Given the description of an element on the screen output the (x, y) to click on. 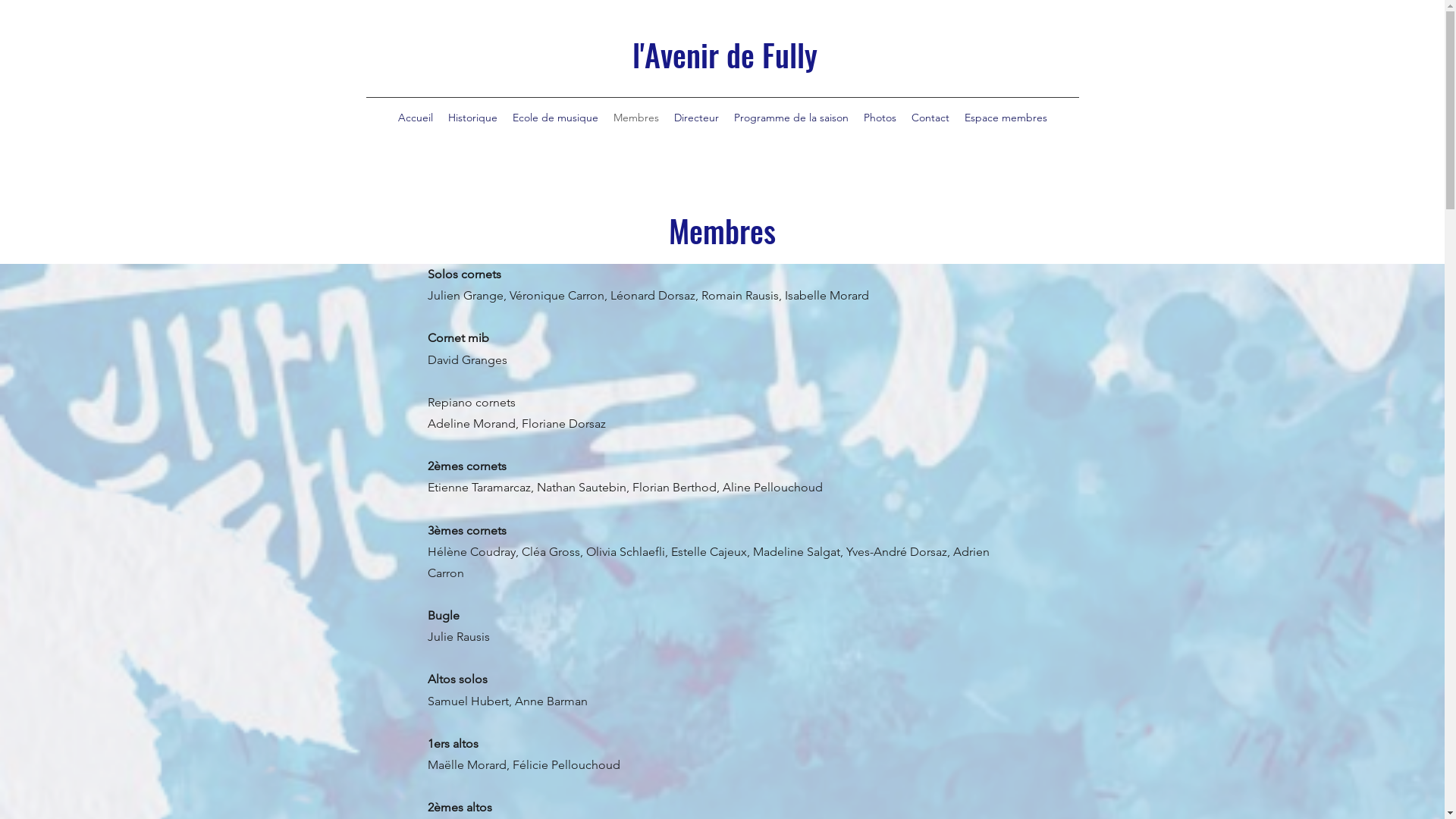
Accueil Element type: text (414, 117)
Membres Element type: text (635, 117)
Programme de la saison Element type: text (791, 117)
Photos Element type: text (879, 117)
Directeur Element type: text (695, 117)
l'Avenir de Fully Element type: text (724, 54)
Espace membres Element type: text (1005, 117)
Historique Element type: text (471, 117)
Ecole de musique Element type: text (555, 117)
Contact Element type: text (930, 117)
